Given the description of an element on the screen output the (x, y) to click on. 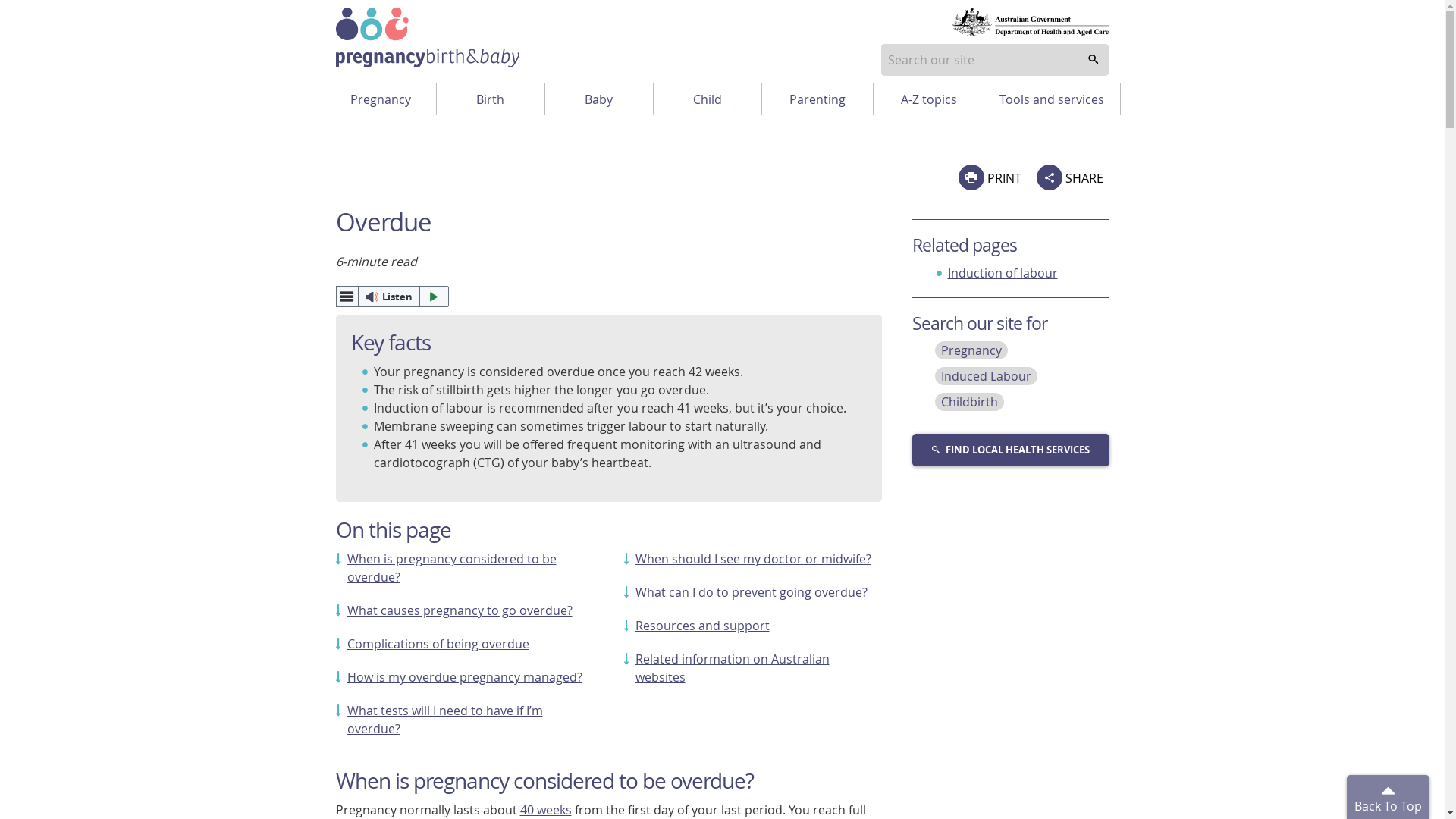
Pregnancy Element type: text (379, 99)
Related information on Australian websites Element type: text (732, 667)
Resources and support Element type: text (702, 625)
Suggestion options Element type: hover (994, 59)
webReader menu Element type: hover (346, 296)
Complications of being overdue Element type: text (438, 643)
Childbirth Element type: text (968, 401)
A-Z topics Element type: text (928, 99)
Induction of labour Element type: text (1002, 272)
Birth Element type: text (490, 99)
  FIND LOCAL HEALTH SERVICES Element type: text (1009, 449)
What can I do to prevent going overdue? Element type: text (751, 591)
When should I see my doctor or midwife? Element type: text (753, 558)
When is pregnancy considered to be overdue? Element type: text (451, 567)
Parenting Element type: text (817, 99)
Pregnancy Element type: text (970, 350)
Child Element type: text (707, 99)
How is my overdue pregnancy managed? Element type: text (464, 676)
Baby Element type: text (598, 99)
What causes pregnancy to go overdue? Element type: text (459, 610)
40 weeks Element type: text (545, 809)
Tools and services Element type: text (1051, 99)
SHARE Element type: text (1068, 177)
Listen Element type: text (391, 296)
PRINT Element type: text (989, 177)
Induced Labour Element type: text (985, 376)
